Given the description of an element on the screen output the (x, y) to click on. 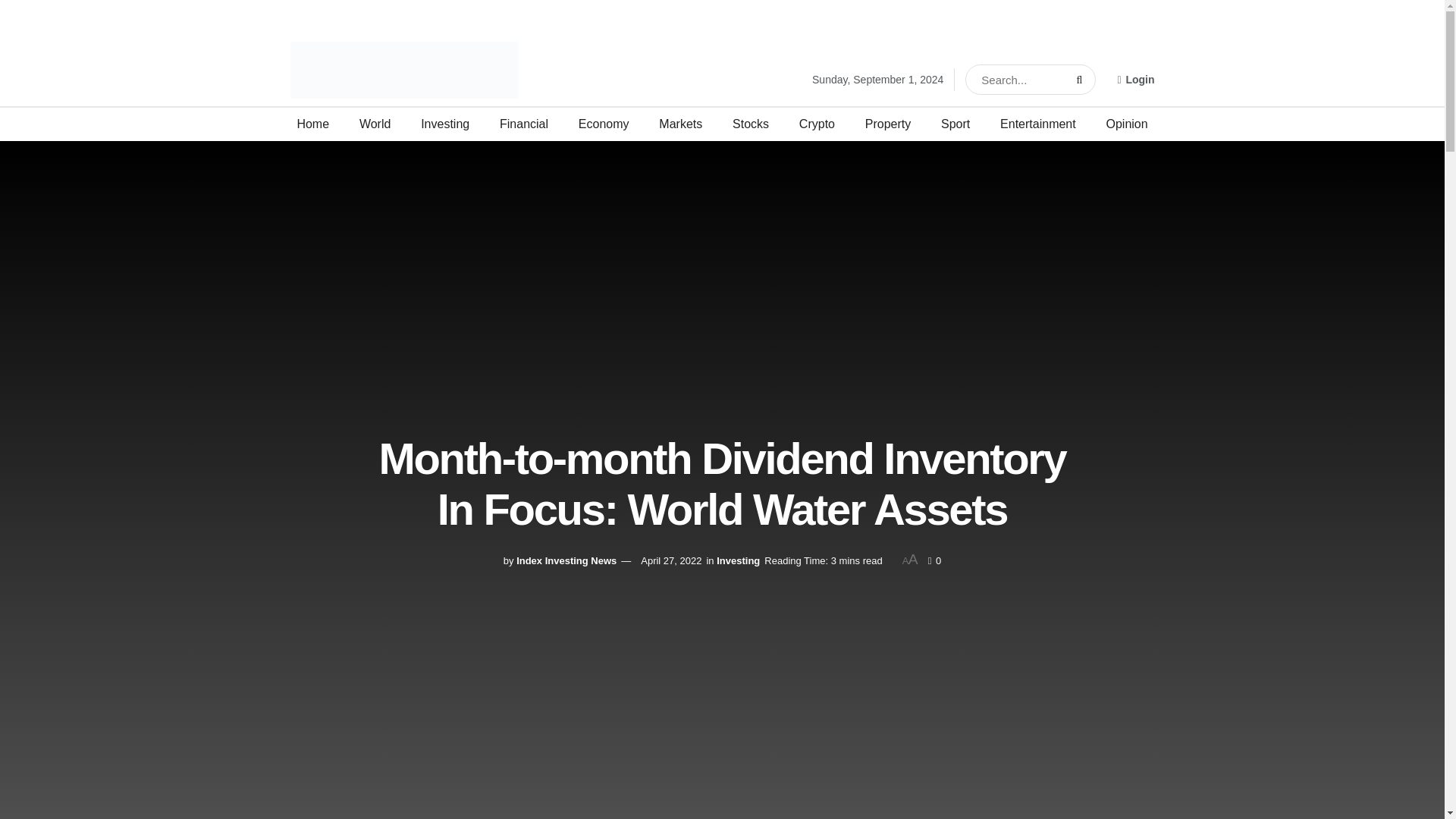
Property (887, 124)
Index Investing News (565, 560)
Crypto (816, 124)
April 27, 2022 (670, 560)
Sport (954, 124)
Login (1135, 79)
Entertainment (1037, 124)
Investing (738, 560)
Financial (523, 124)
Investing (444, 124)
